Given the description of an element on the screen output the (x, y) to click on. 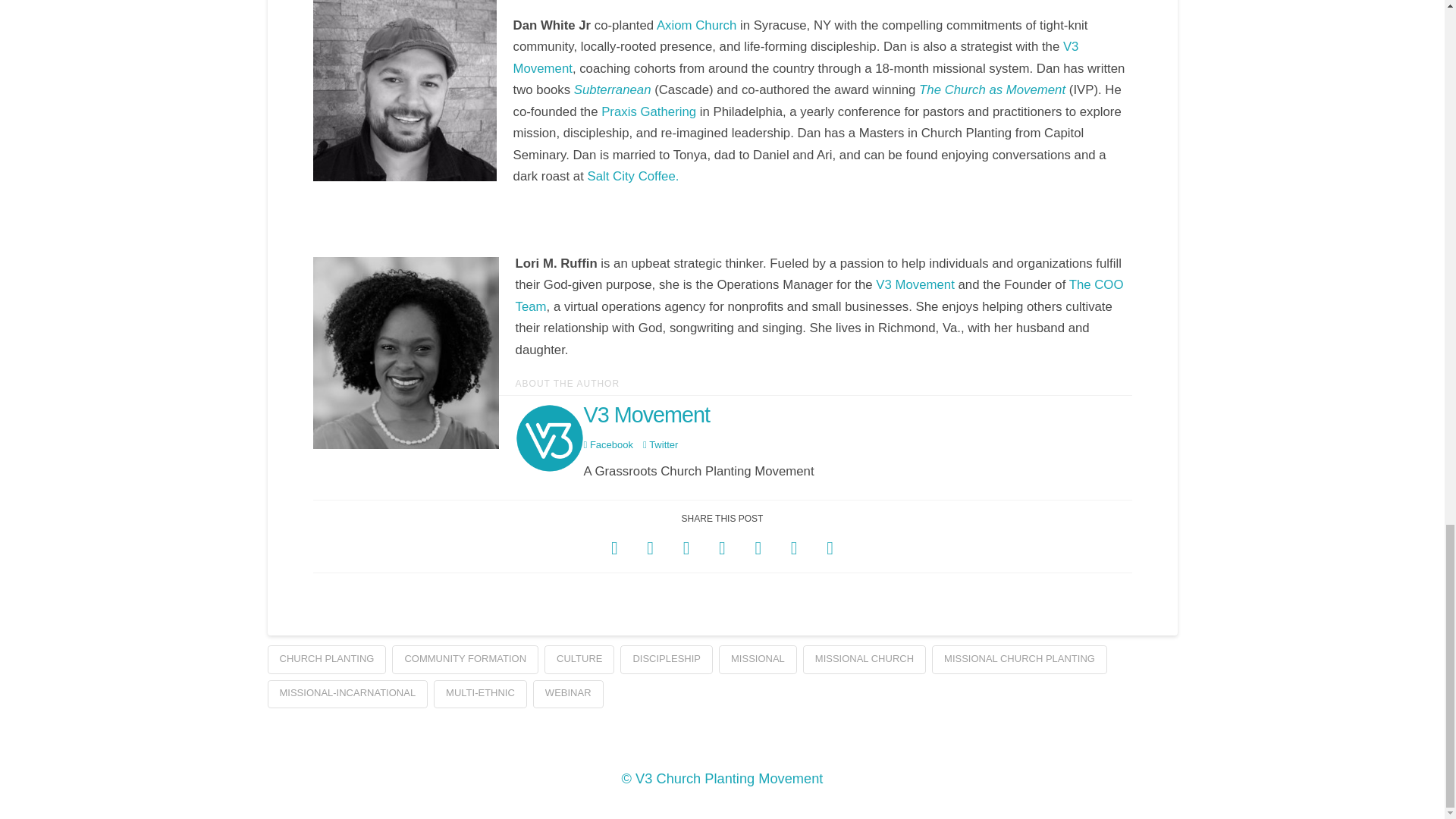
Subterranean  (613, 89)
DISCIPLESHIP (666, 659)
CULTURE (579, 659)
Twitter (660, 444)
V3 Movement (915, 284)
CHURCH PLANTING (325, 659)
Visit the Facebook Profile for V3 Movement (608, 444)
Salt City Coffee. (632, 175)
Axiom Church (696, 25)
Visit the Twitter Profile for V3 Movement (660, 444)
V3 Movement (795, 57)
Praxis Gathering (647, 111)
Facebook (608, 444)
MISSIONAL (757, 659)
The COO Team (819, 295)
